Given the description of an element on the screen output the (x, y) to click on. 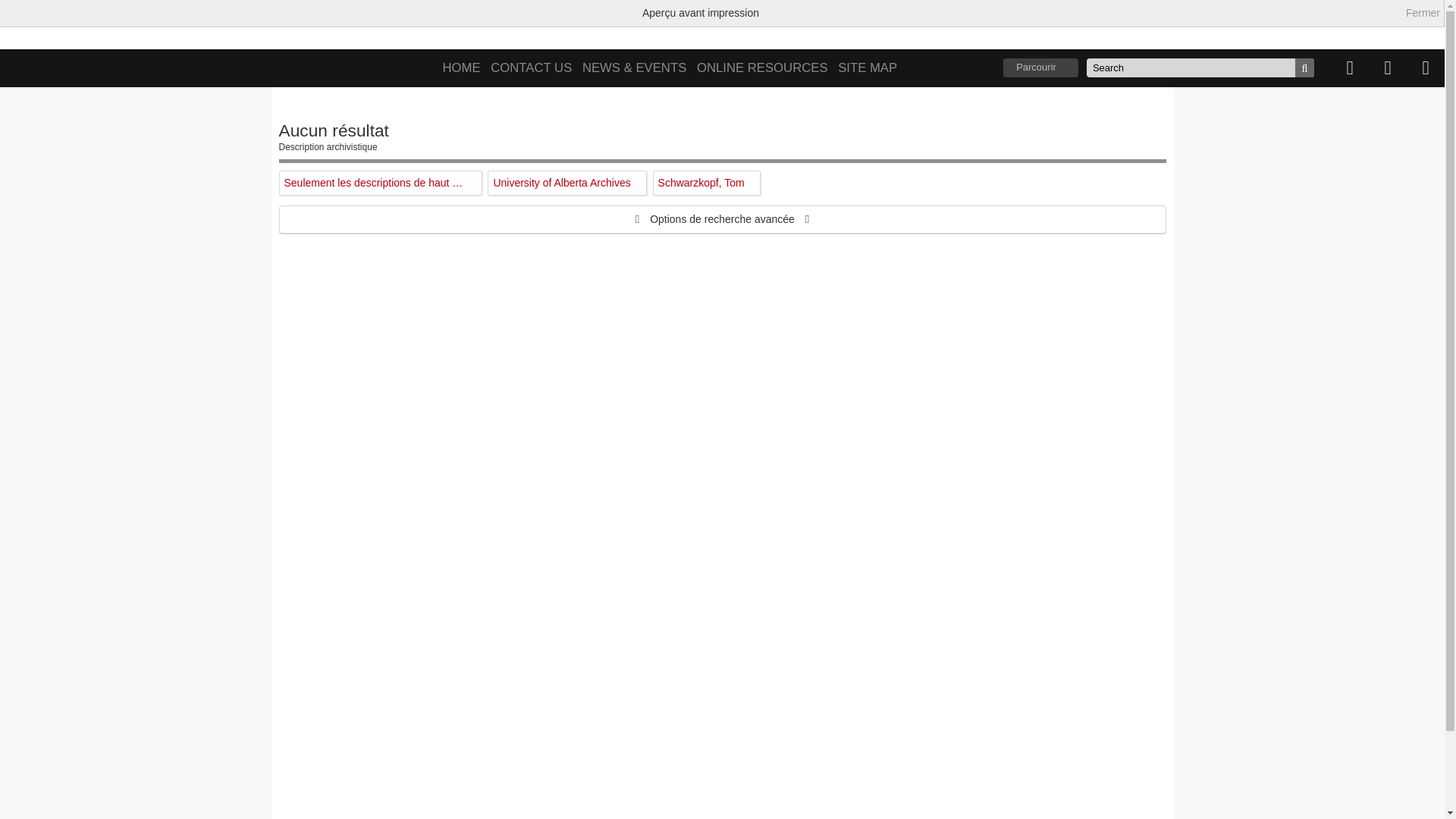
ONLINE RESOURCES Element type: text (762, 67)
Langue Element type: text (1387, 68)
LinkedIn Element type: text (666, 25)
NEWS & EVENTS Element type: text (634, 67)
Parcourir Element type: text (1040, 67)
CONTACT US Element type: text (530, 67)
SITE MAP Element type: text (867, 67)
Liens rapides Element type: text (1425, 68)
Fermer Element type: text (1422, 12)
Facebook Element type: text (631, 25)
Archives Society of Alberta Element type: text (519, 22)
Presse-papier Element type: text (1349, 68)
HOME Element type: text (461, 67)
